Given the description of an element on the screen output the (x, y) to click on. 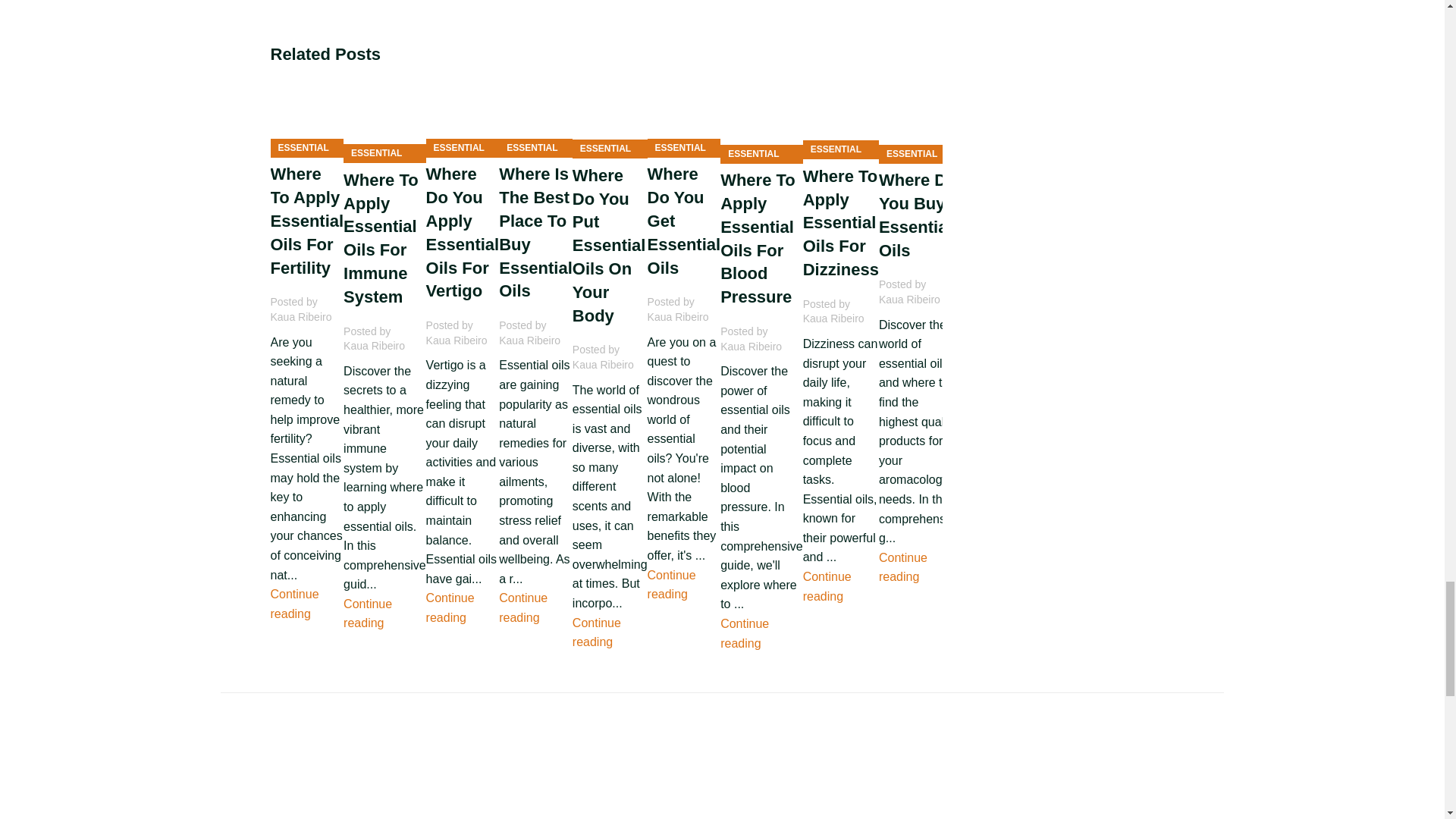
Where To Apply Essential Oils For Immune System (384, 116)
Where To Apply Essential Oils For Blood Pressure (761, 116)
Where Do You Put Essential Oils On Your Body (609, 114)
Where Is The Best Place To Buy Essential Oils (535, 113)
Where To Apply Essential Oils For Fertility (306, 113)
Where Do You Apply Essential Oils For Vertigo (462, 113)
Where Do You Buy Essential Oils (919, 116)
Where Do You Get Essential Oils (683, 113)
Where To Apply Essential Oils For Dizziness (841, 114)
